Given the description of an element on the screen output the (x, y) to click on. 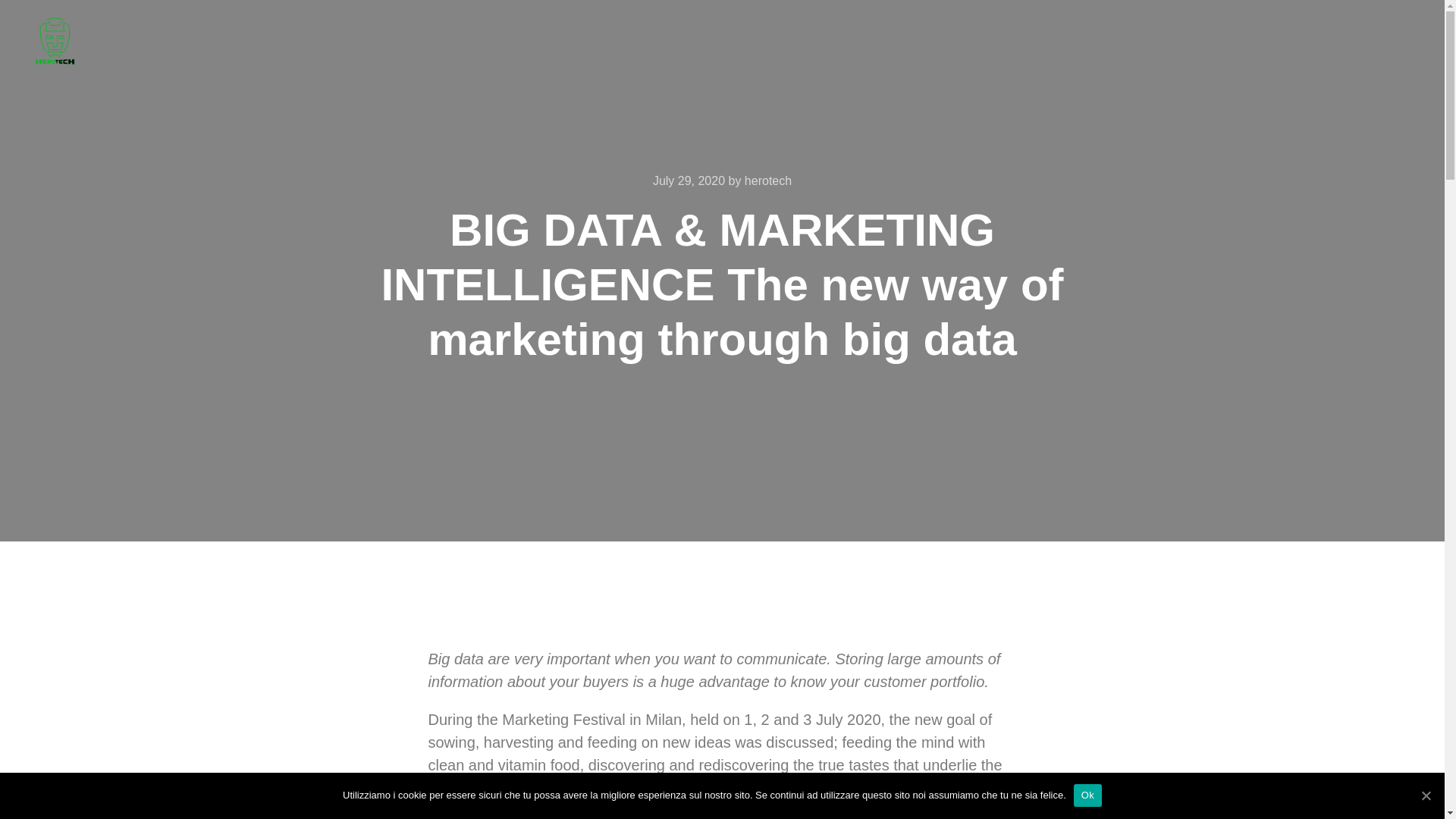
Ok (1088, 794)
herotech (768, 180)
View all posts by herotech (768, 180)
